Given the description of an element on the screen output the (x, y) to click on. 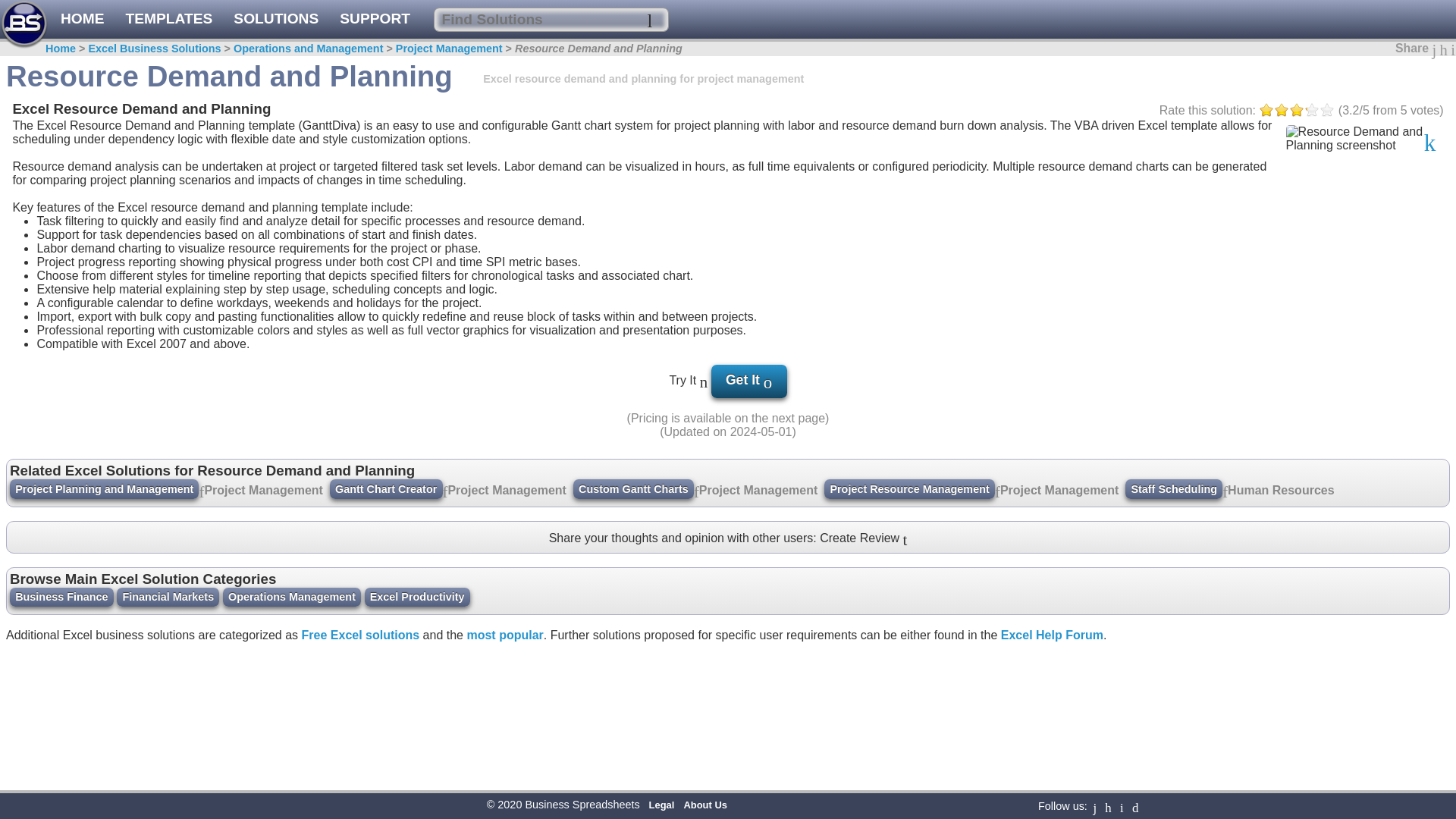
TEMPLATES (168, 18)
Operations and Management (308, 48)
SUPPORT (374, 18)
Business Spreadsheets - Excel templates for business (60, 18)
Excel Business Solutions (154, 48)
Home (60, 48)
SOLUTIONS (275, 18)
Project Management (449, 48)
HOME (60, 18)
